Given the description of an element on the screen output the (x, y) to click on. 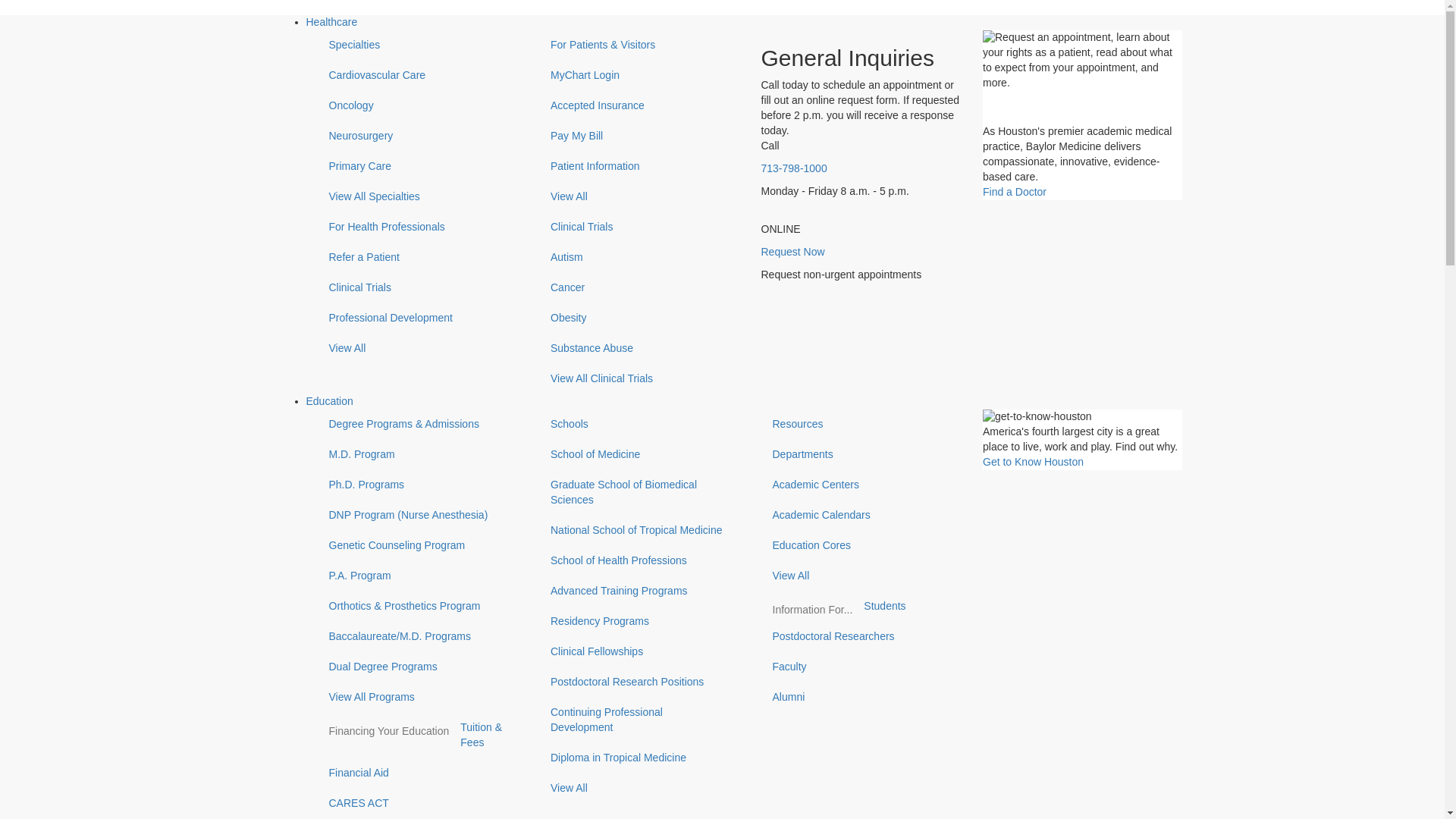
Pay My Bill (638, 136)
General Information (1082, 77)
Genetic Counseling Program (416, 545)
Departments (477, 633)
Cardiovascular Care (416, 75)
P.A. Program (416, 576)
Clinical Trials (416, 287)
Neurosurgery (416, 136)
Obesity (638, 318)
View All Clinical Trials (638, 378)
